Given the description of an element on the screen output the (x, y) to click on. 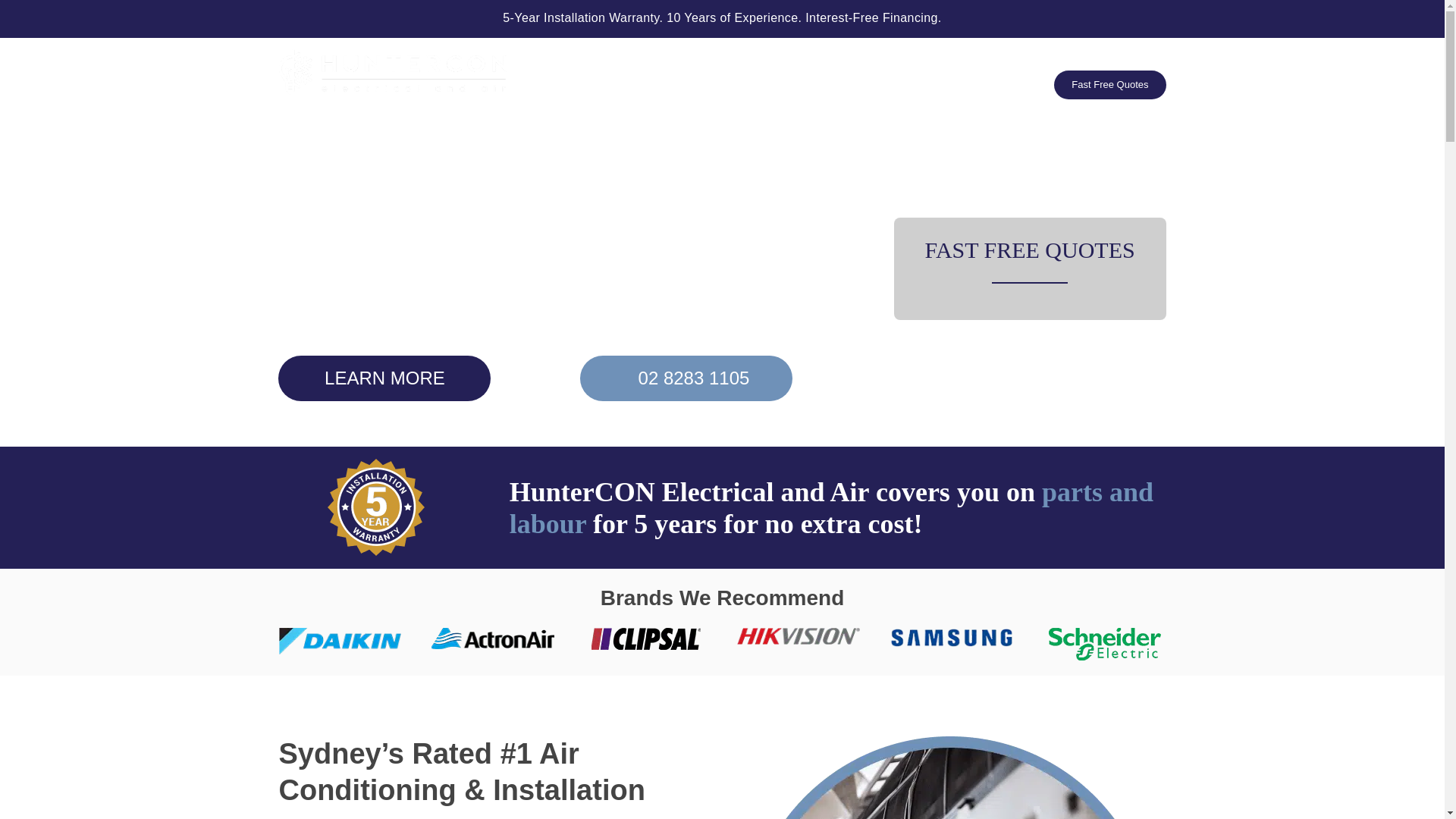
Air Conditioning (785, 69)
5 Years Warranty Badge (376, 507)
02 8283 1105 (1110, 55)
Daikin Logo (340, 640)
Schneider Electric Logo (1104, 644)
Air Conditioning Sydney (949, 777)
HIKVision Logo (798, 635)
Samsung Logo (951, 637)
Clipsal Logo (645, 639)
ActronAir Logo (492, 638)
